Given the description of an element on the screen output the (x, y) to click on. 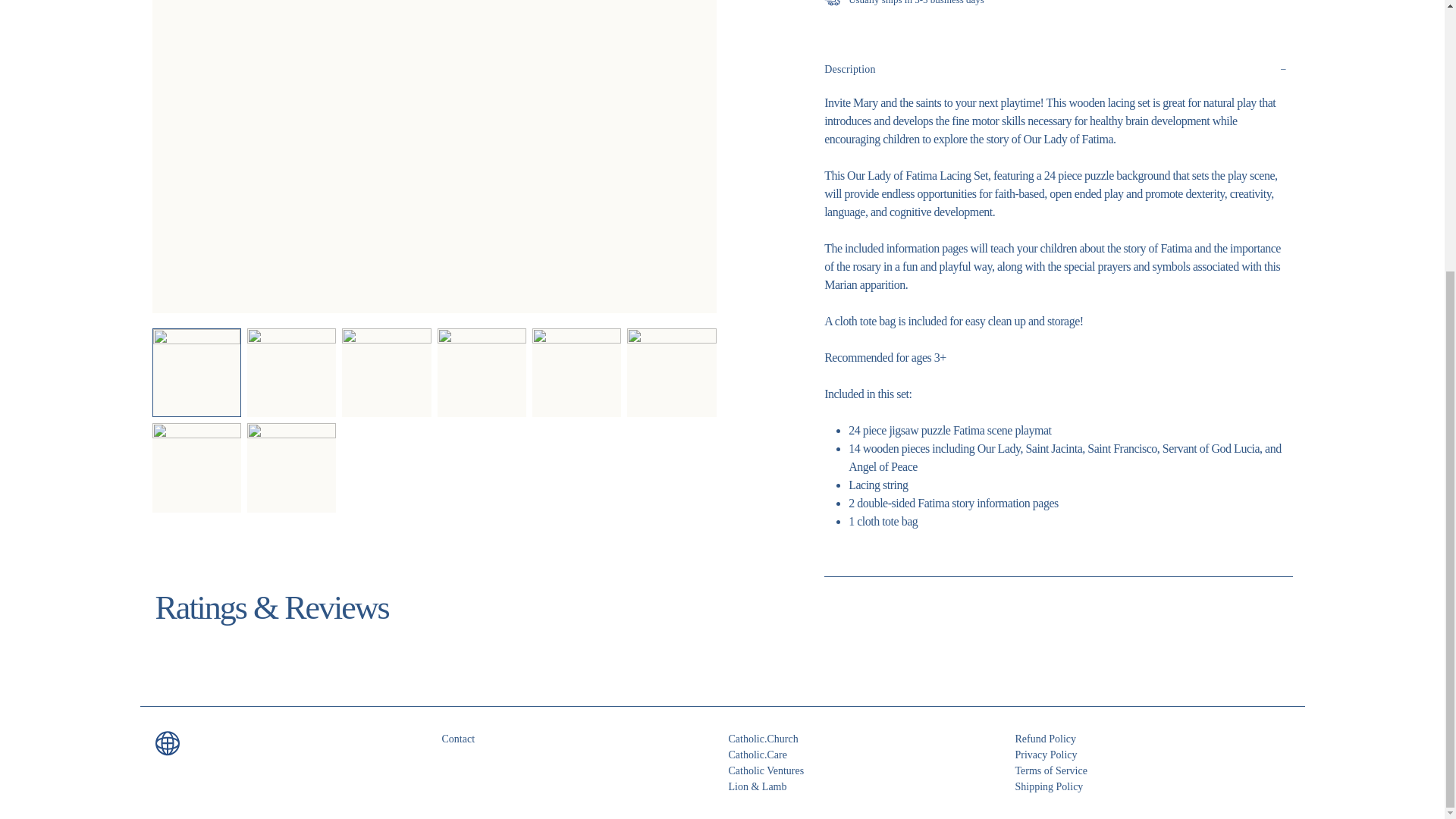
Catholic.Church (865, 738)
Contact (578, 738)
Catholic.Care (865, 754)
Catholic Ventures (865, 770)
